Given the description of an element on the screen output the (x, y) to click on. 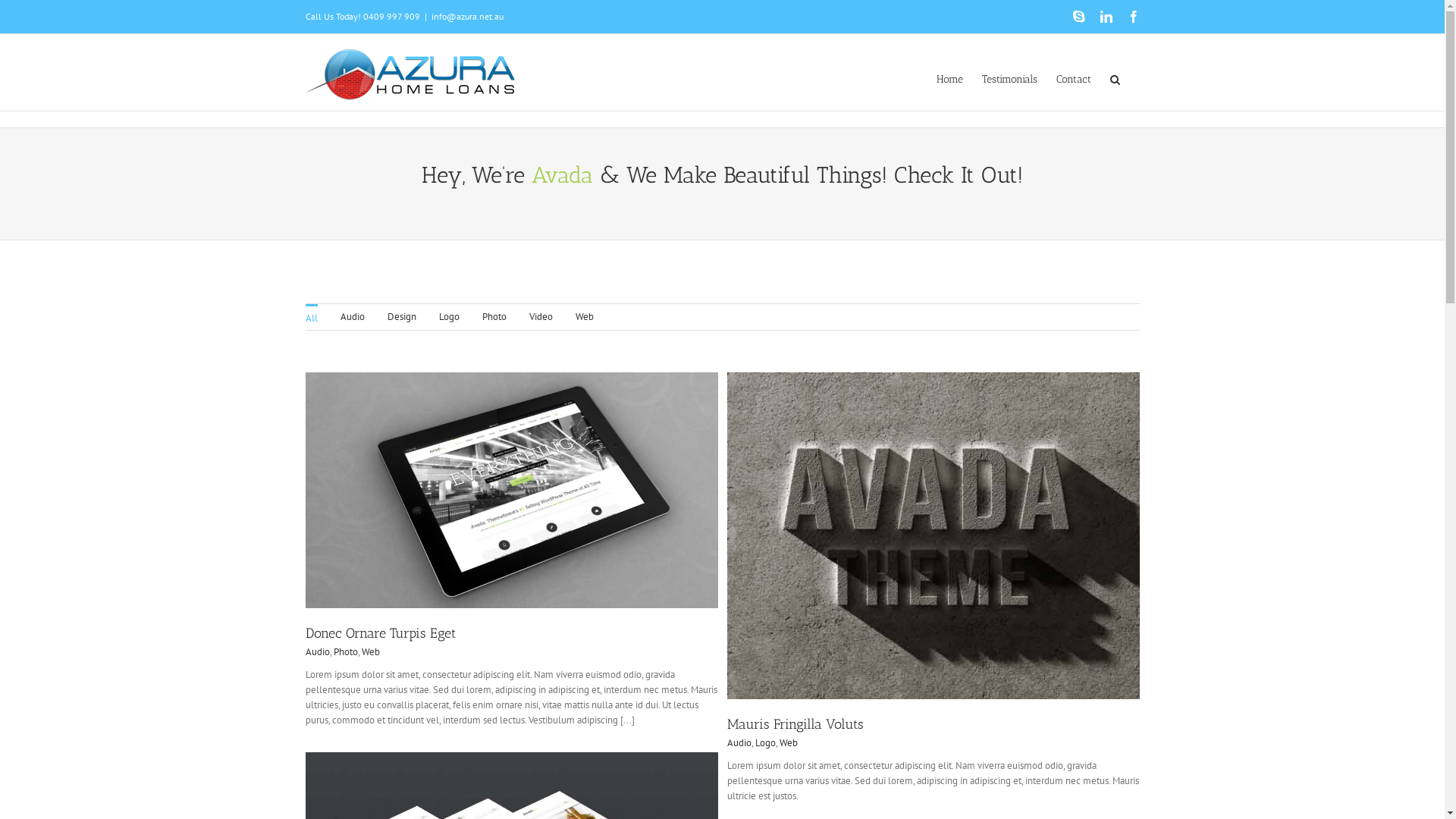
Facebook Element type: text (1132, 16)
Home Element type: text (948, 77)
Design Element type: text (400, 316)
Contact Element type: text (1072, 77)
Web Element type: text (788, 742)
Web Element type: text (583, 316)
Skype Element type: text (1078, 16)
Logo Element type: text (448, 316)
Web Element type: text (369, 651)
All Element type: text (310, 316)
Donec Ornare Turpis Eget Element type: text (379, 632)
Search Element type: hover (1115, 77)
Logo Element type: text (765, 742)
LinkedIn Element type: text (1105, 16)
info@azura.net.au Element type: text (466, 15)
Audio Element type: text (738, 742)
Mauris Fringilla Voluts Element type: text (794, 723)
Audio Element type: text (351, 316)
Audio Element type: text (316, 651)
Photo Element type: text (494, 316)
Video Element type: text (540, 316)
Photo Element type: text (345, 651)
Testimonials Element type: text (1008, 77)
